Given the description of an element on the screen output the (x, y) to click on. 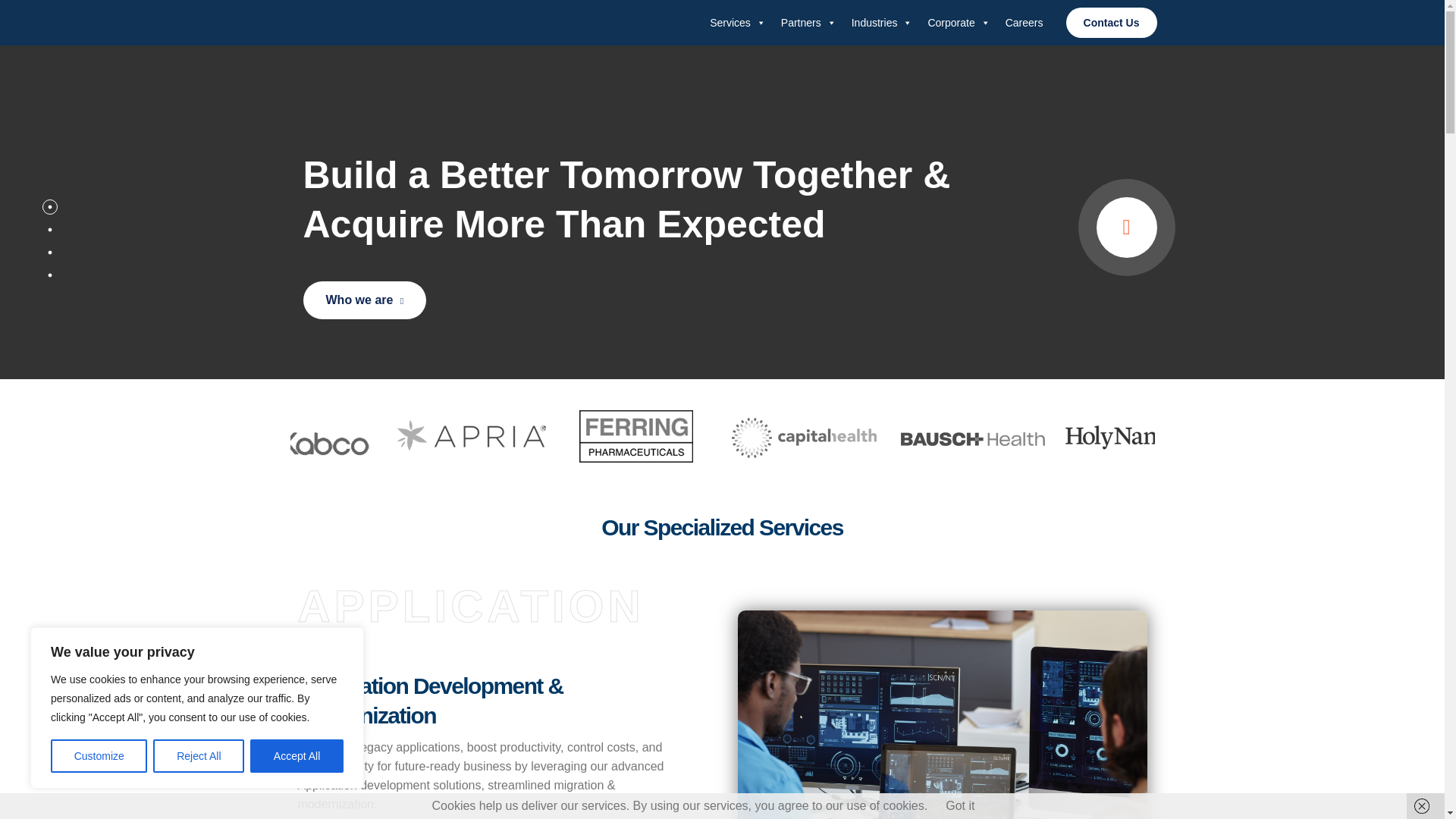
Customize (98, 756)
Contact Us (1111, 30)
Partners (808, 22)
Reject All (198, 756)
Accept All (296, 756)
Industries (882, 22)
Careers (1024, 22)
Services (737, 22)
Corporate (958, 22)
